Given the description of an element on the screen output the (x, y) to click on. 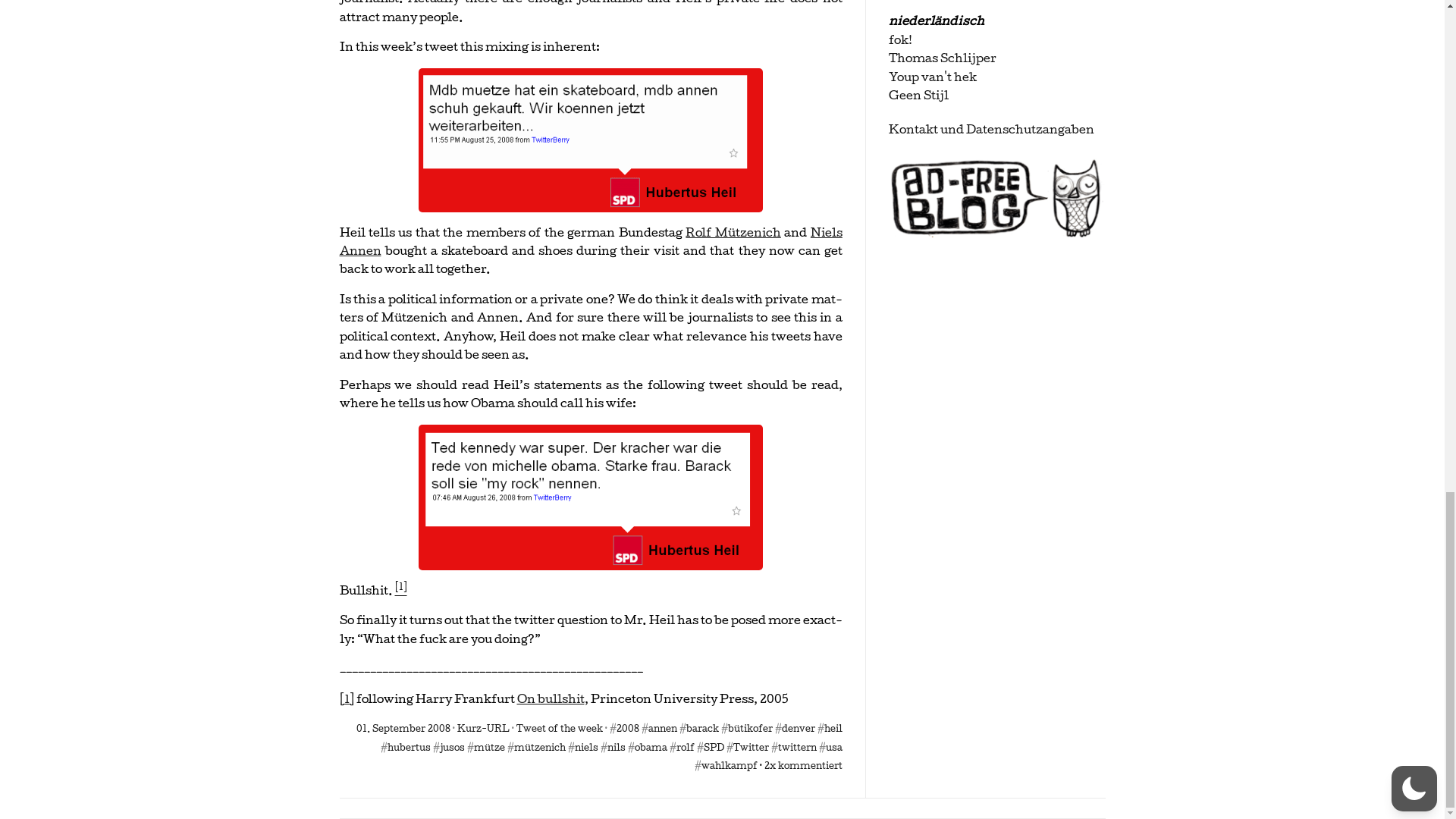
hubi1 (590, 139)
Bekanntester Kabarettist der Niederlande (932, 76)
